Given the description of an element on the screen output the (x, y) to click on. 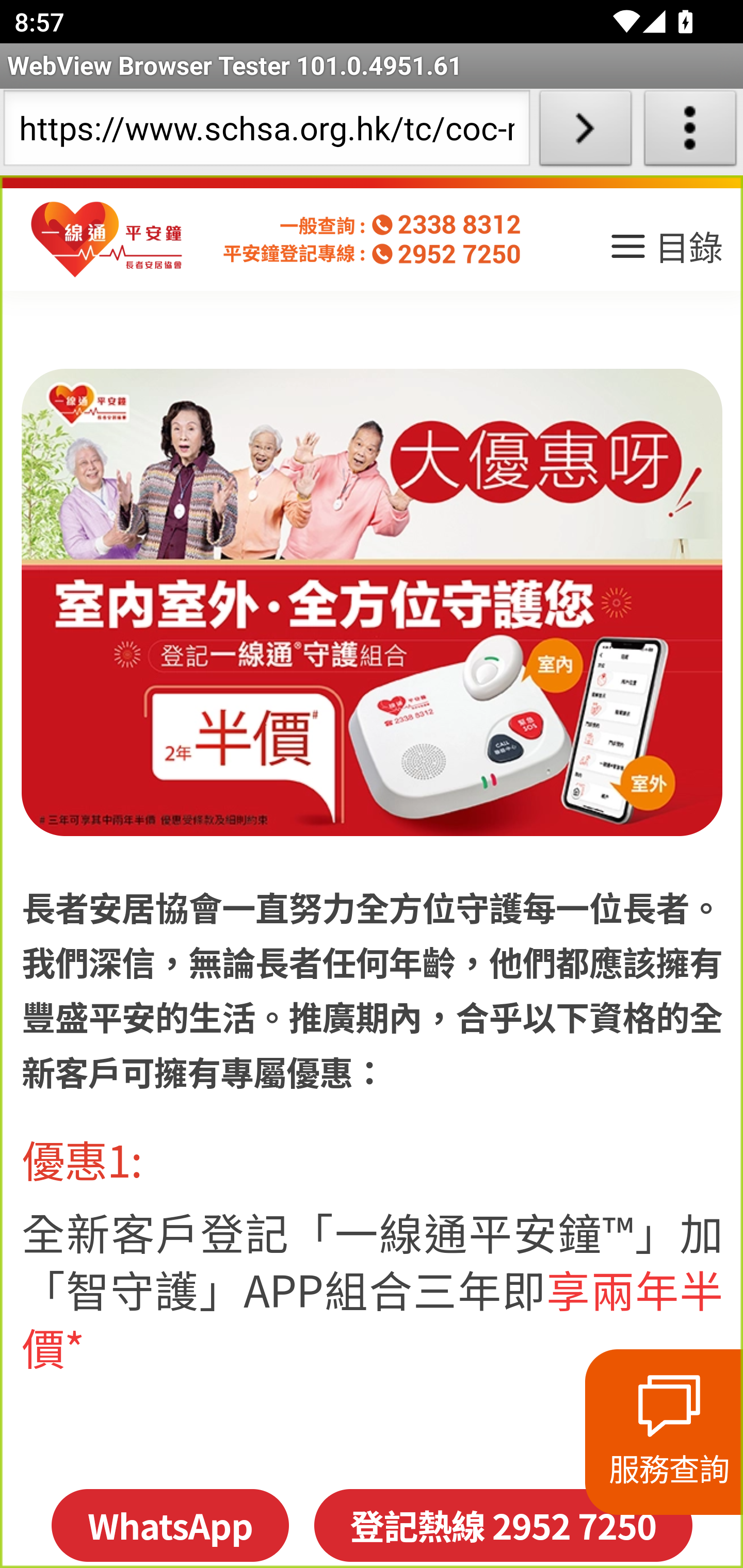
Load URL (585, 132)
About WebView (690, 132)
homepage (107, 240)
目錄 (665, 252)
服務查詢 (664, 1432)
WhatsApp (169, 1525)
登記熱線 2952 7250 (502, 1525)
